Given the description of an element on the screen output the (x, y) to click on. 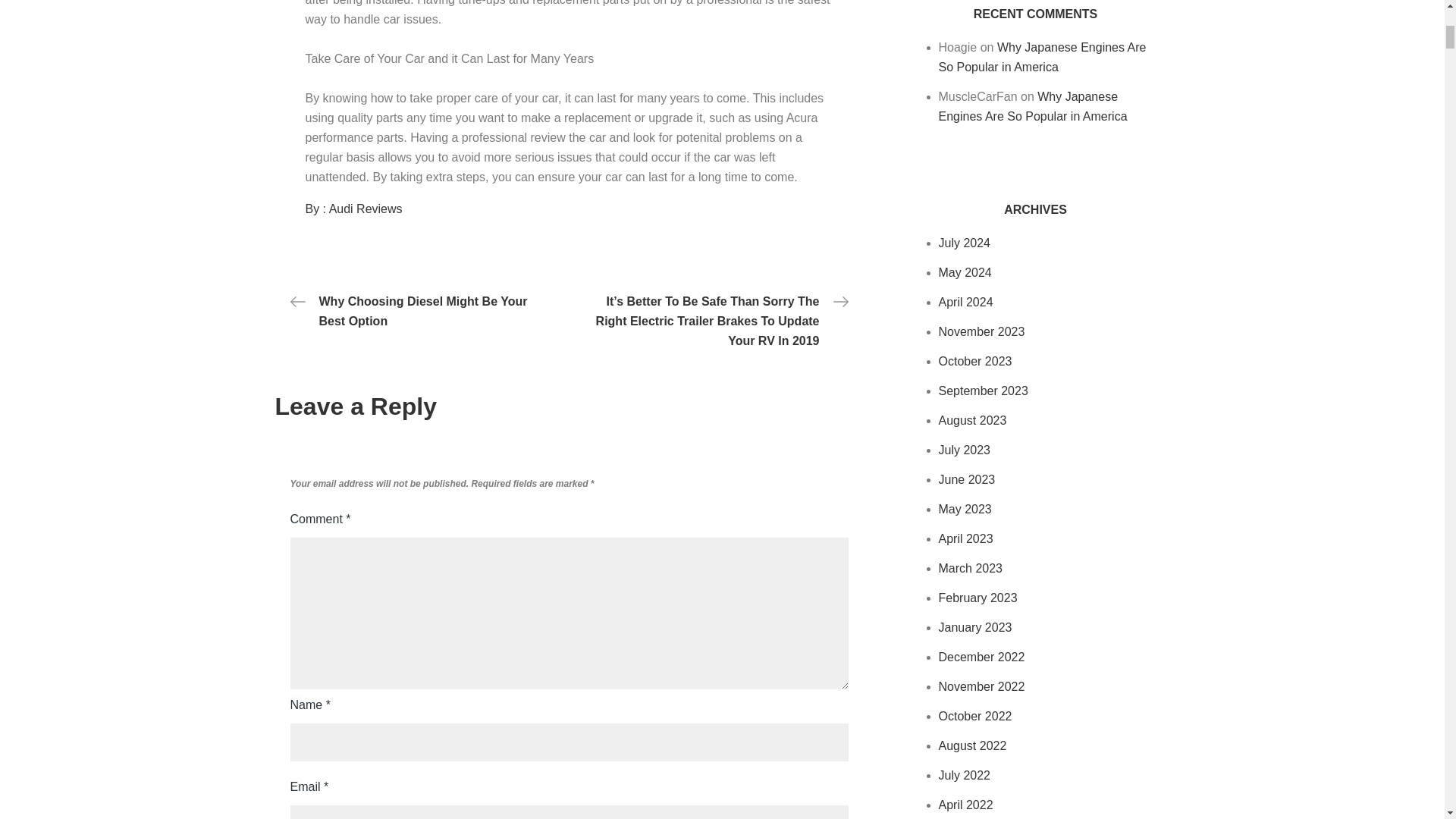
July 2024 (965, 242)
Why Japanese Engines Are So Popular in America (1032, 106)
March 2023 (971, 567)
April 2023 (965, 538)
May 2024 (965, 272)
August 2023 (973, 420)
November 2023 (982, 331)
April 2024 (965, 301)
October 2023 (975, 360)
May 2023 (965, 508)
